Given the description of an element on the screen output the (x, y) to click on. 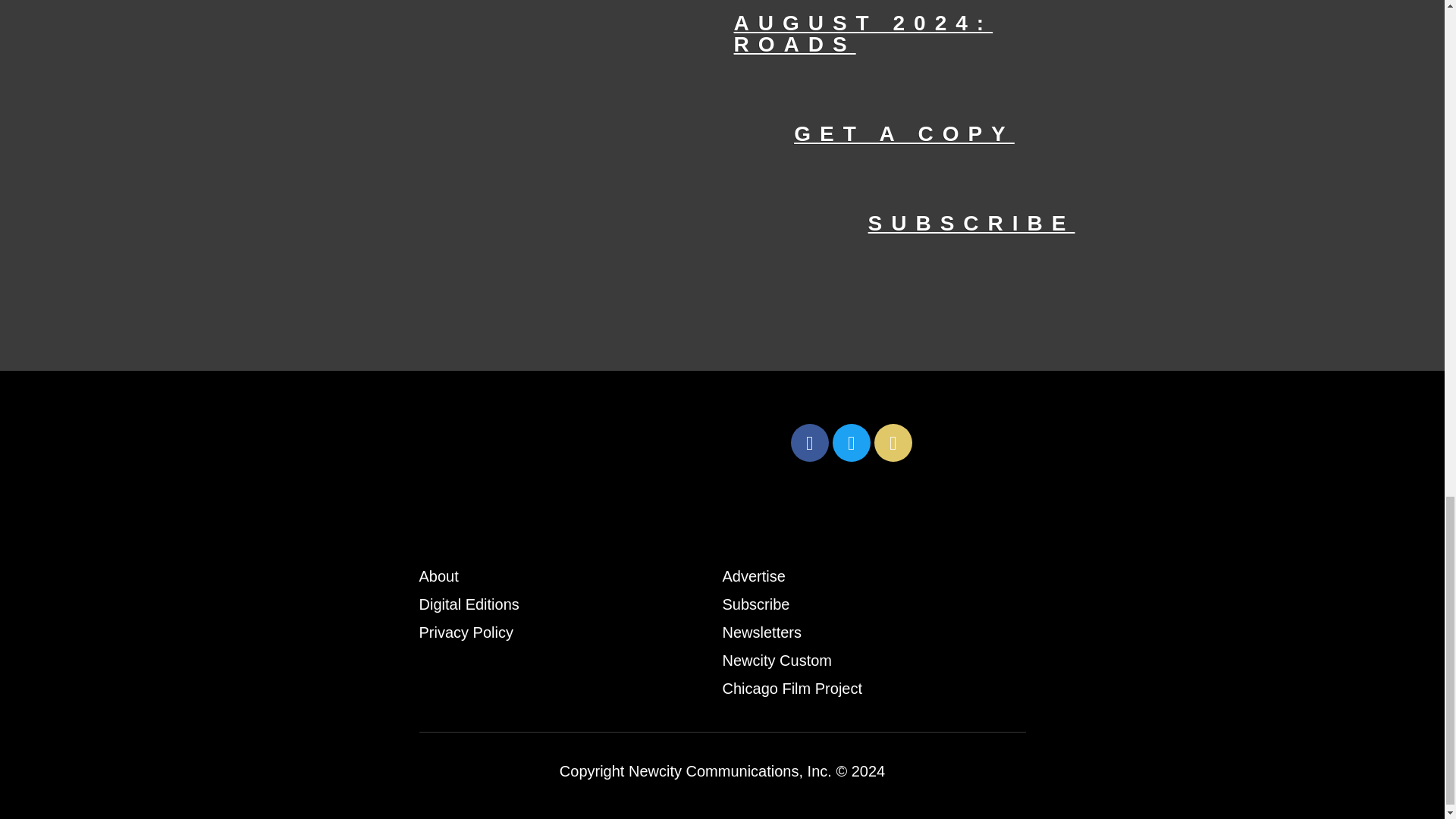
NewcityLogo.png (600, 442)
